Given the description of an element on the screen output the (x, y) to click on. 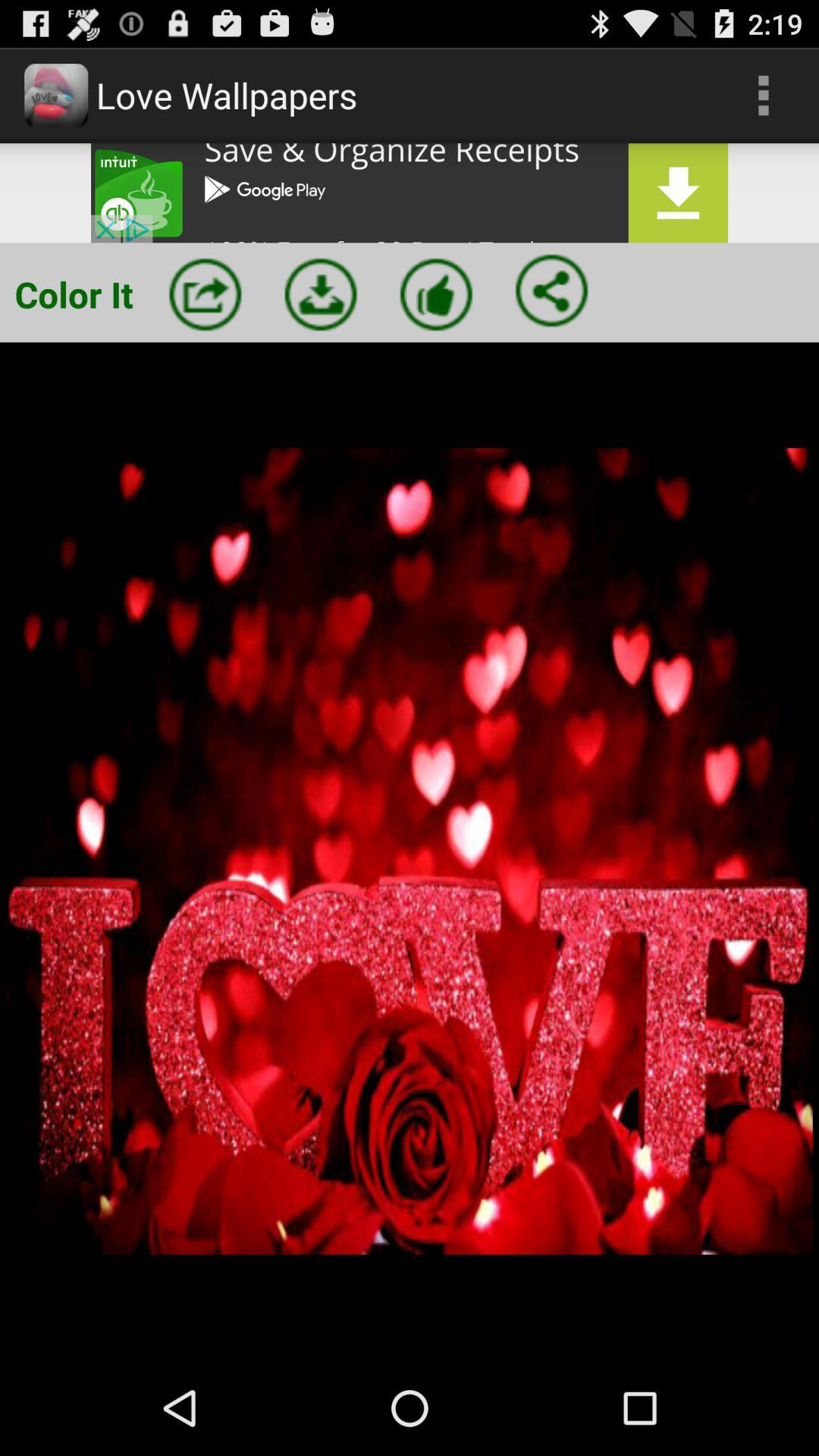
share the file (551, 290)
